Given the description of an element on the screen output the (x, y) to click on. 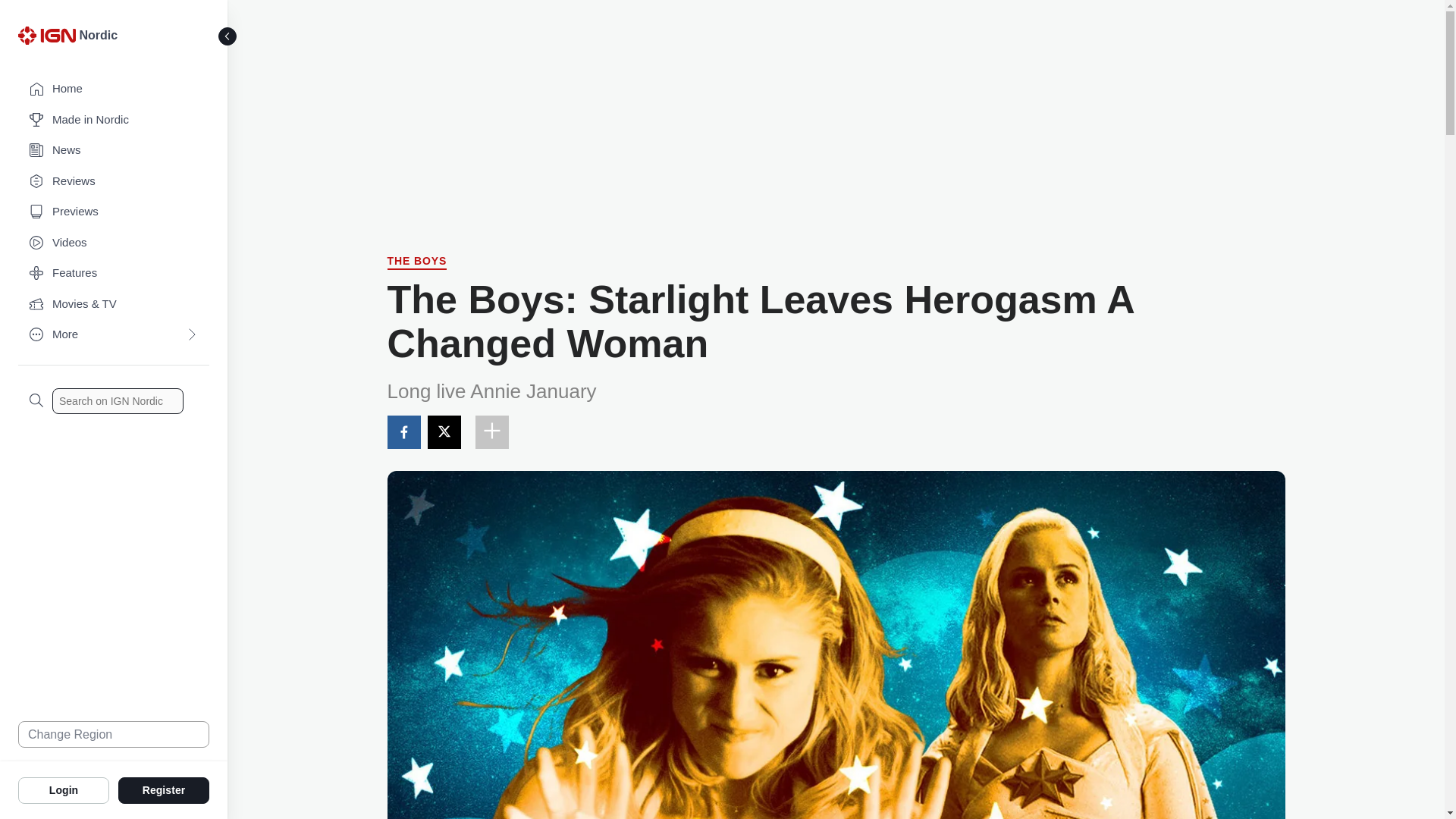
More (113, 334)
Home (113, 89)
Previews (113, 211)
IGN Logo (46, 34)
Made in Nordic (113, 119)
IGN Logo (48, 39)
Videos (113, 242)
Login (63, 789)
Reviews (113, 181)
Toggle Sidebar (226, 36)
The Boys (416, 262)
Features (113, 273)
News (113, 150)
